Given the description of an element on the screen output the (x, y) to click on. 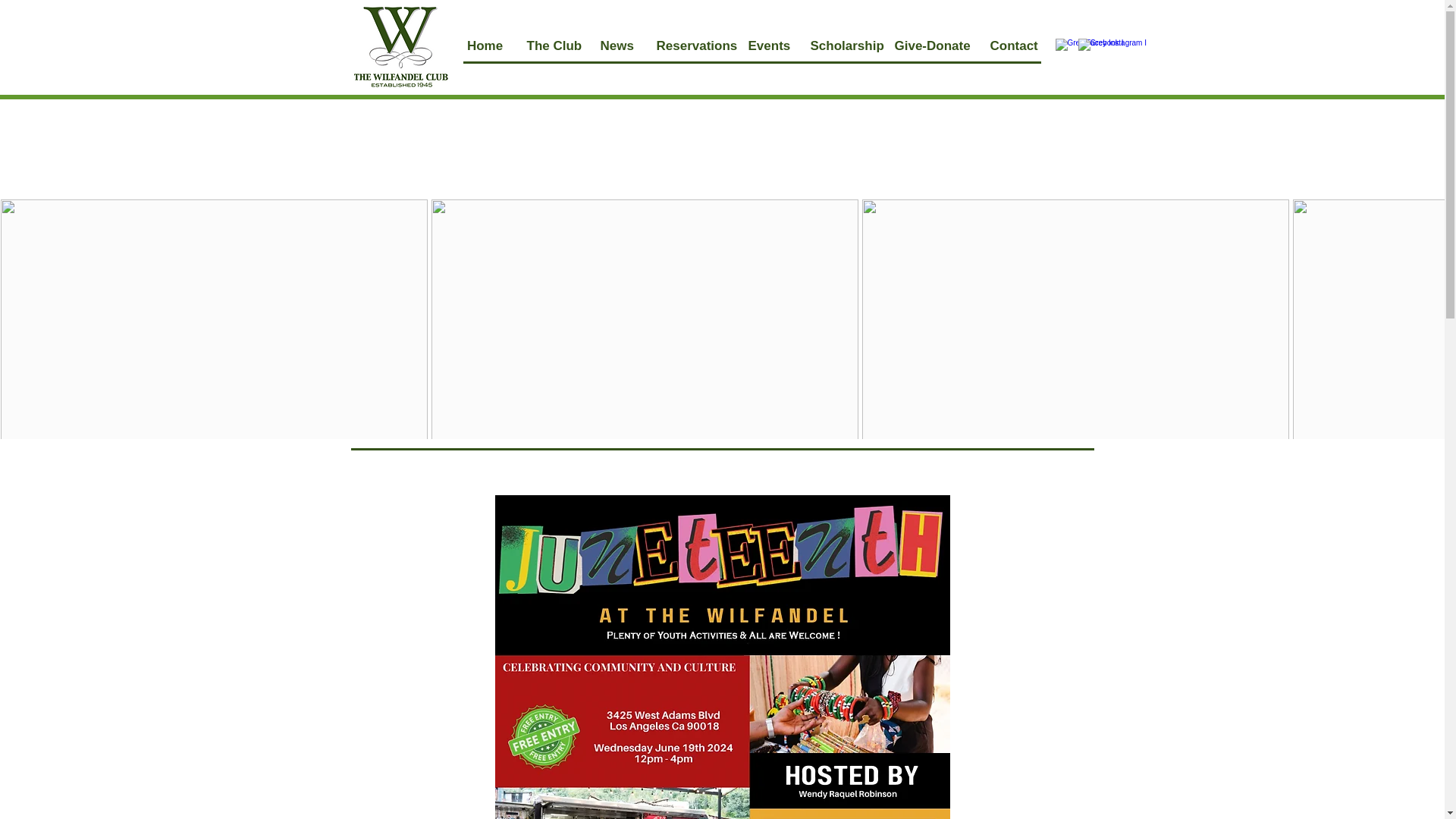
Contact (1013, 46)
News (616, 46)
Home (484, 46)
Reservations (690, 46)
